Given the description of an element on the screen output the (x, y) to click on. 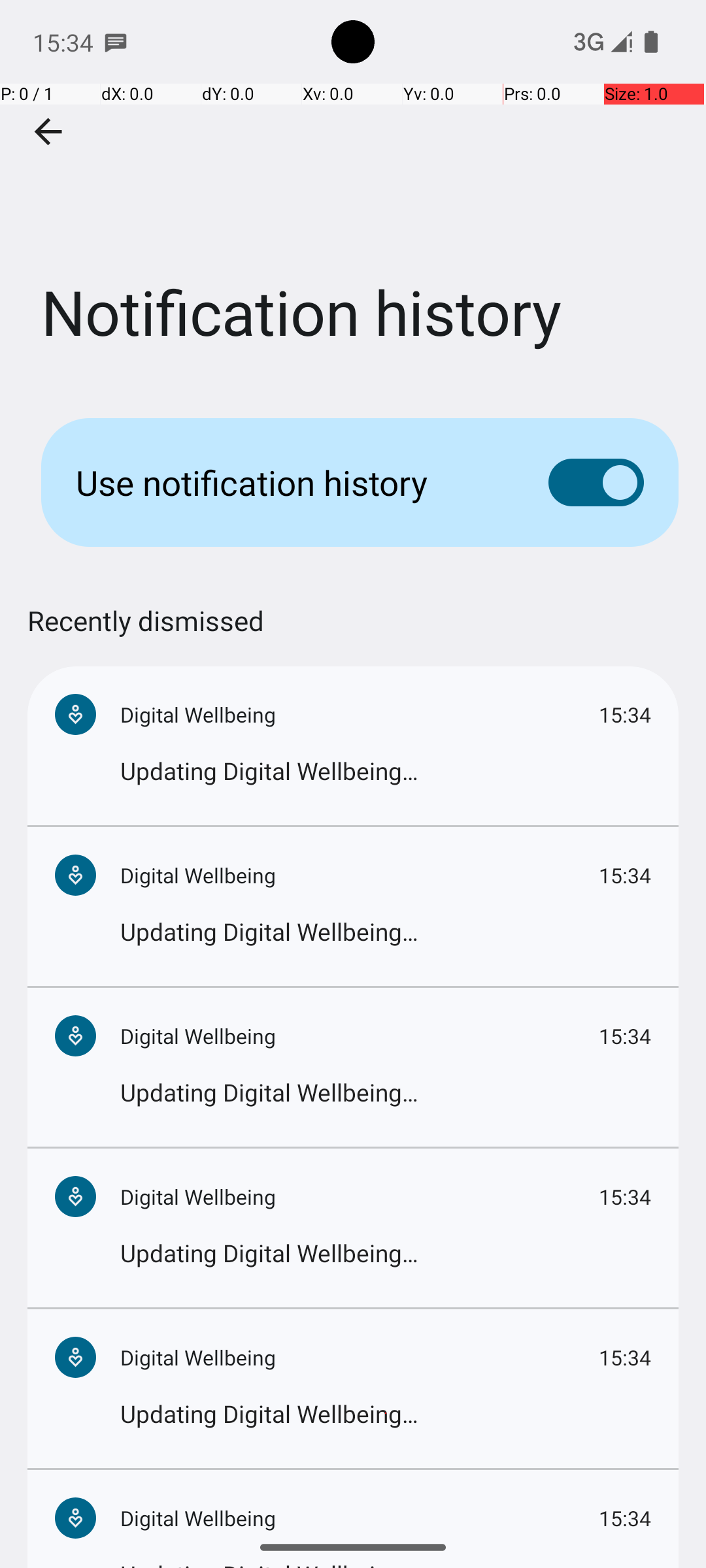
Recently dismissed Element type: android.widget.TextView (145, 633)
Use notification history Element type: android.widget.TextView (291, 482)
Digital Wellbeing Element type: android.widget.TextView (359, 714)
Updating Digital Wellbeing… Element type: android.widget.TextView (385, 770)
